Given the description of an element on the screen output the (x, y) to click on. 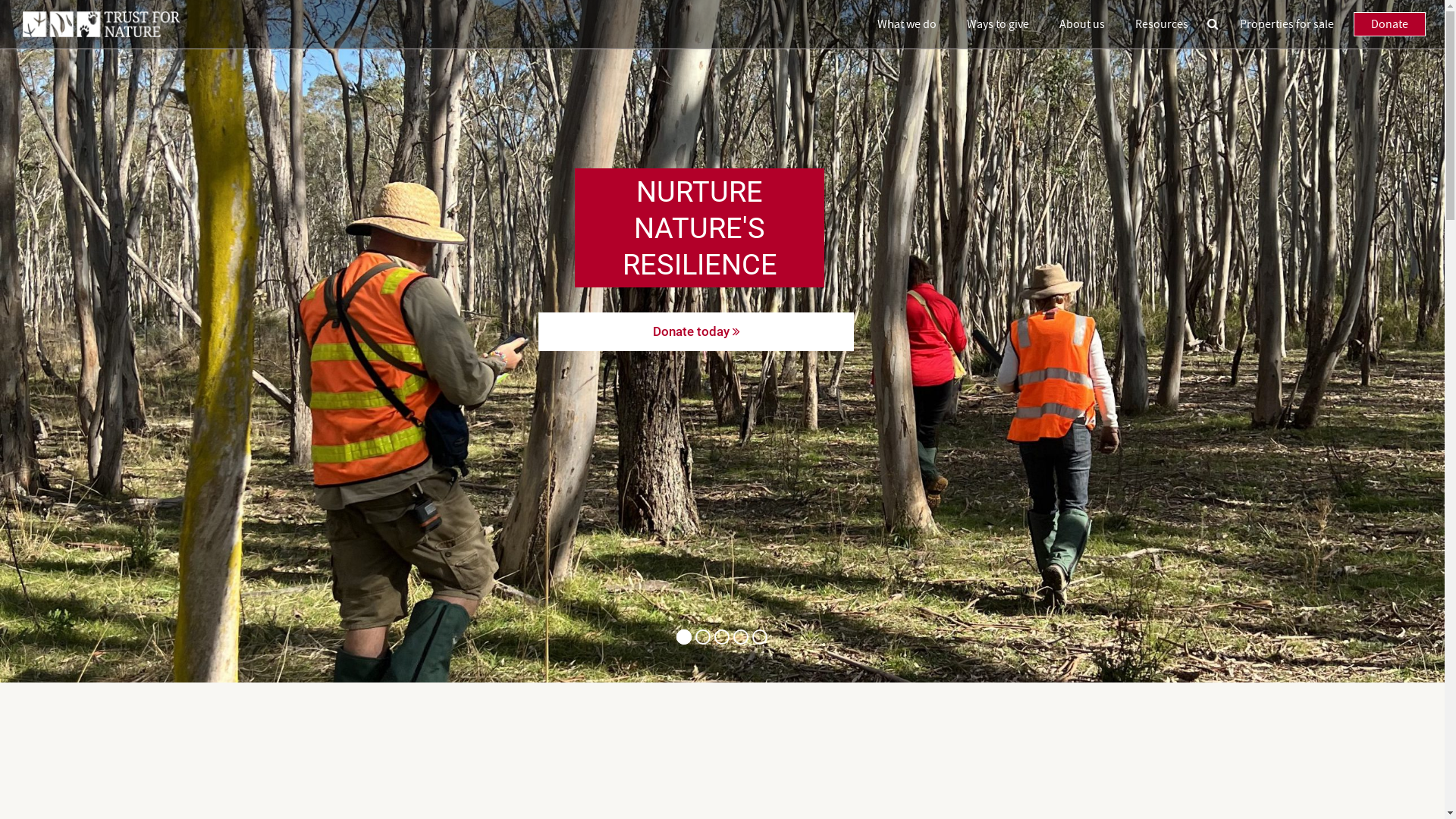
Donate today Element type: text (695, 331)
Ways to give Element type: text (997, 24)
About us Element type: text (1081, 24)
Properties for sale Element type: text (1286, 24)
What we do Element type: text (906, 24)
Trust for Nature (Victoria) Element type: text (102, 23)
Donate Element type: text (1389, 24)
Resources Element type: text (1161, 24)
